Given the description of an element on the screen output the (x, y) to click on. 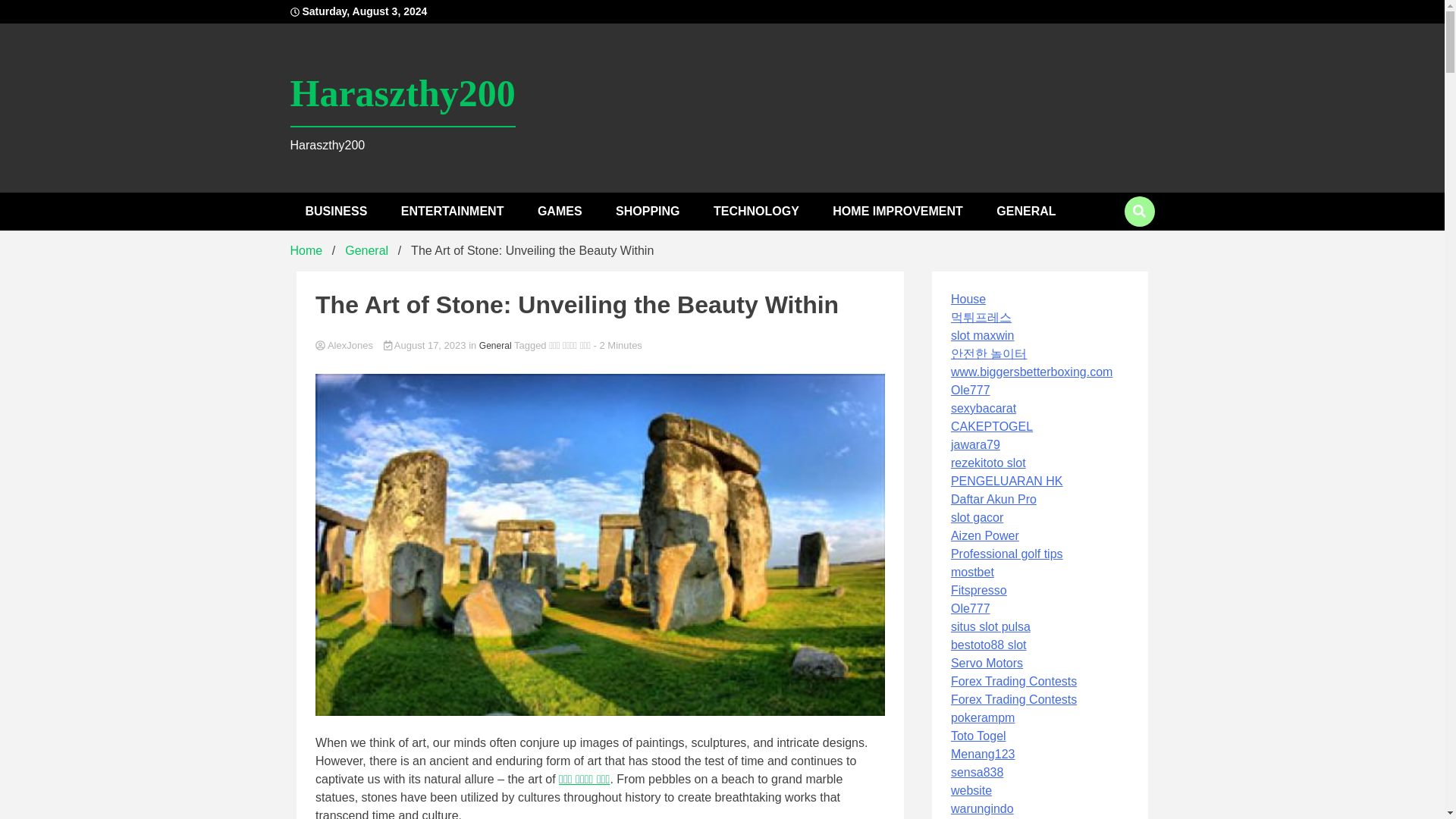
General (366, 250)
slot maxwin (982, 335)
Home (305, 250)
Estimated Reading Time of Article (618, 345)
AlexJones (600, 345)
BUSINESS (335, 211)
Haraszthy200 (402, 94)
ENTERTAINMENT (452, 211)
www.biggersbetterboxing.com (1031, 371)
General (495, 345)
GENERAL (1025, 211)
SHOPPING (646, 211)
GAMES (559, 211)
House (967, 298)
TECHNOLOGY (755, 211)
